Given the description of an element on the screen output the (x, y) to click on. 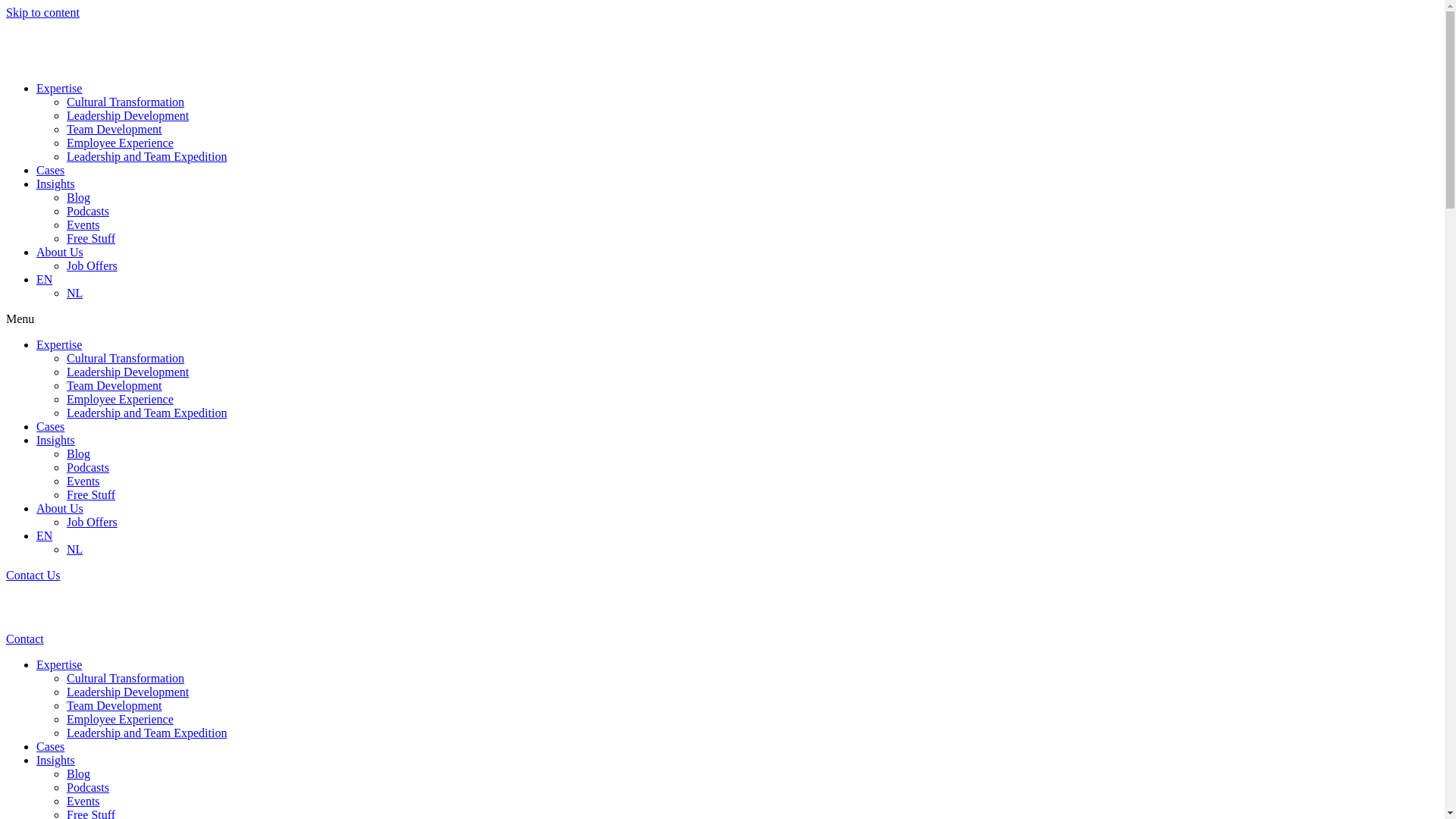
Free Stuff Element type: text (90, 238)
Podcasts Element type: text (87, 467)
Contact Us Element type: text (33, 574)
Events Element type: text (83, 800)
Cases Element type: text (50, 426)
Employee Experience Element type: text (119, 398)
About Us Element type: text (59, 508)
Cultural Transformation Element type: text (125, 677)
Skip to content Element type: text (42, 12)
Free Stuff Element type: text (90, 494)
EN Element type: text (44, 535)
Leadership Development Element type: text (127, 371)
Leadership and Team Expedition Element type: text (146, 156)
Expertise Element type: text (58, 664)
Leadership and Team Expedition Element type: text (146, 732)
NL Element type: text (74, 548)
Team Development Element type: text (114, 385)
Insights Element type: text (55, 759)
Expertise Element type: text (58, 87)
Team Development Element type: text (114, 128)
Job Offers Element type: text (91, 265)
Blog Element type: text (78, 773)
Insights Element type: text (55, 183)
Cases Element type: text (50, 746)
Cultural Transformation Element type: text (125, 357)
About Us Element type: text (59, 251)
NL Element type: text (74, 292)
Contact Element type: text (24, 638)
Leadership and Team Expedition Element type: text (146, 412)
Expertise Element type: text (58, 344)
Podcasts Element type: text (87, 210)
Podcasts Element type: text (87, 787)
Events Element type: text (83, 224)
Employee Experience Element type: text (119, 718)
Leadership Development Element type: text (127, 691)
Team Development Element type: text (114, 705)
Leadership Development Element type: text (127, 115)
Cases Element type: text (50, 169)
Job Offers Element type: text (91, 521)
Cultural Transformation Element type: text (125, 101)
Insights Element type: text (55, 439)
Blog Element type: text (78, 197)
Blog Element type: text (78, 453)
Events Element type: text (83, 480)
EN Element type: text (44, 279)
Employee Experience Element type: text (119, 142)
